Given the description of an element on the screen output the (x, y) to click on. 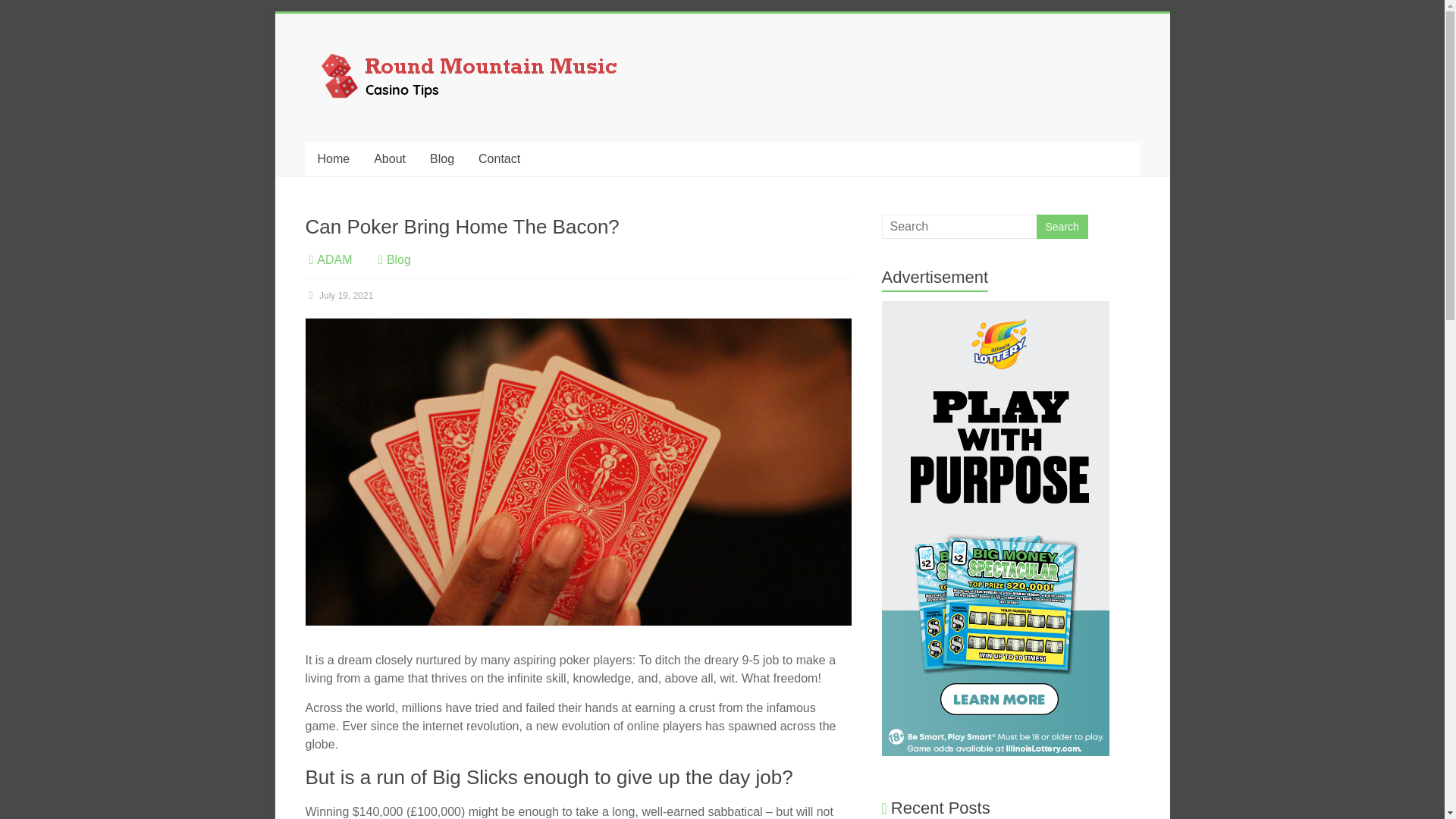
Home (332, 159)
ADAM (334, 259)
Contact (498, 159)
ADAM (334, 259)
Blog (398, 259)
July 19, 2021 (338, 295)
About (389, 159)
8:11 am (338, 295)
Search (1061, 226)
Round Mountain Music (360, 84)
Round Mountain Music (360, 84)
Search (1061, 226)
Blog (441, 159)
